Given the description of an element on the screen output the (x, y) to click on. 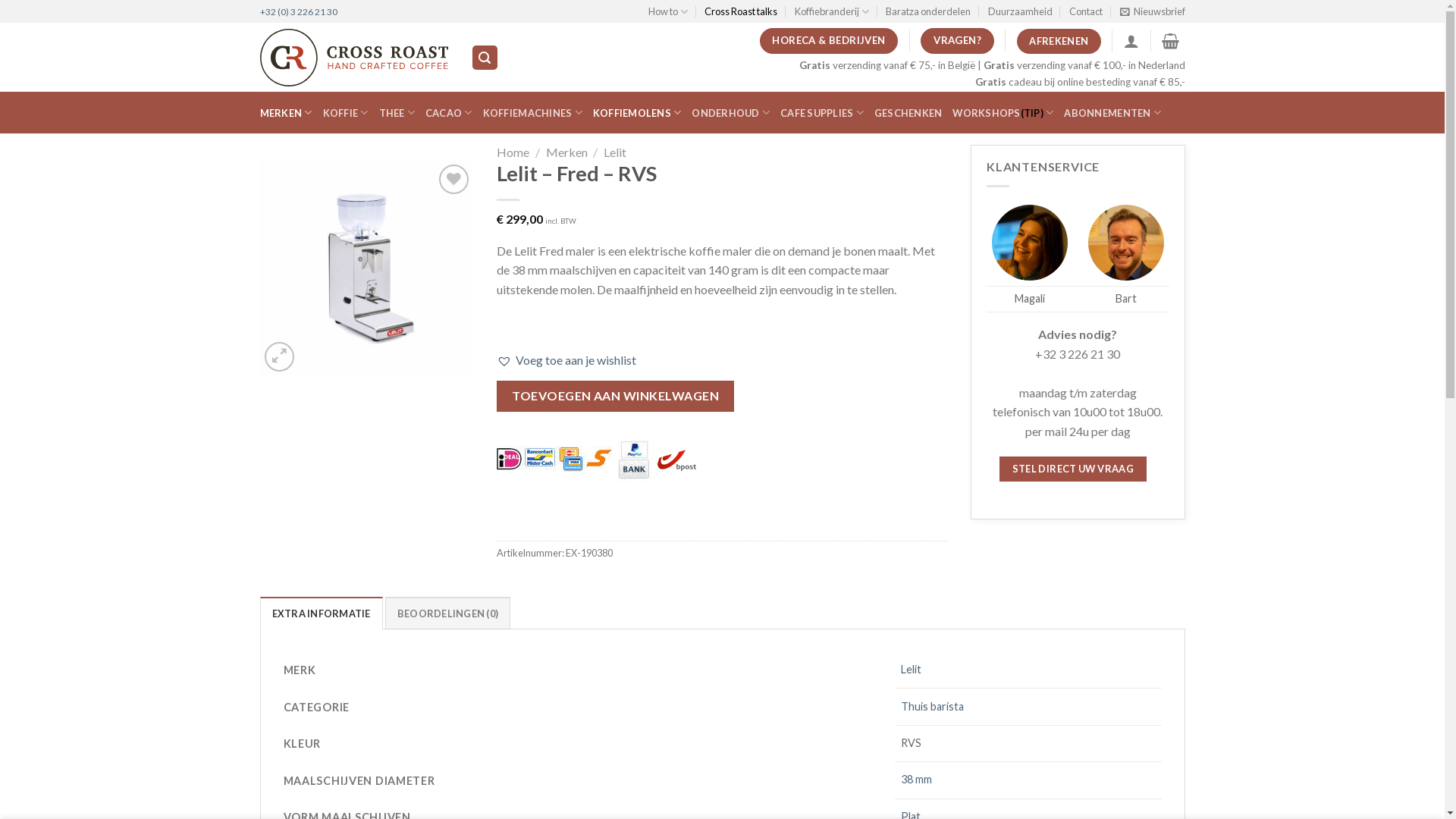
STEL DIRECT UW VRAAG Element type: text (1072, 468)
WORKSHOPS
(TIP) Element type: text (1002, 112)
Cross Roast - Hand Crafted Coffee Element type: hover (353, 57)
HORECA & BEDRIJVEN Element type: text (828, 40)
38 mm Element type: text (915, 778)
How to Element type: text (667, 11)
Duurzaamheid Element type: text (1020, 11)
+32 (0) 3 226 21 30 Element type: text (297, 11)
Baratza onderdelen Element type: text (927, 11)
Merken Element type: text (566, 151)
TOEVOEGEN AAN WINKELWAGEN Element type: text (615, 395)
Lelit Element type: text (910, 668)
VRAGEN? Element type: text (956, 40)
MERKEN Element type: text (285, 112)
EXTRA INFORMATIE Element type: text (320, 612)
KOFFIE Element type: text (345, 112)
THEE Element type: text (396, 112)
BEOORDELINGEN (0) Element type: text (447, 612)
Nieuwsbrief Element type: text (1151, 11)
CACAO Element type: text (448, 112)
AFREKENEN Element type: text (1058, 40)
Lelit Element type: text (614, 151)
ONDERHOUD Element type: text (730, 112)
ABONNEMENTEN Element type: text (1112, 112)
CAFE SUPPLIES Element type: text (821, 112)
Winkelwagen Element type: hover (1170, 40)
KOFFIEMOLENS Element type: text (637, 112)
Zoom Element type: hover (279, 356)
Koffiebranderij Element type: text (831, 11)
Lelit - fred - rvs Element type: hover (366, 267)
Contact Element type: text (1085, 11)
Voeg toe aan je wishlist Element type: text (566, 360)
KOFFIEMACHINES Element type: text (532, 112)
Home Element type: text (512, 151)
Cross Roast talks Element type: text (740, 11)
Thuis barista Element type: text (931, 705)
GESCHENKEN Element type: text (908, 112)
